Given the description of an element on the screen output the (x, y) to click on. 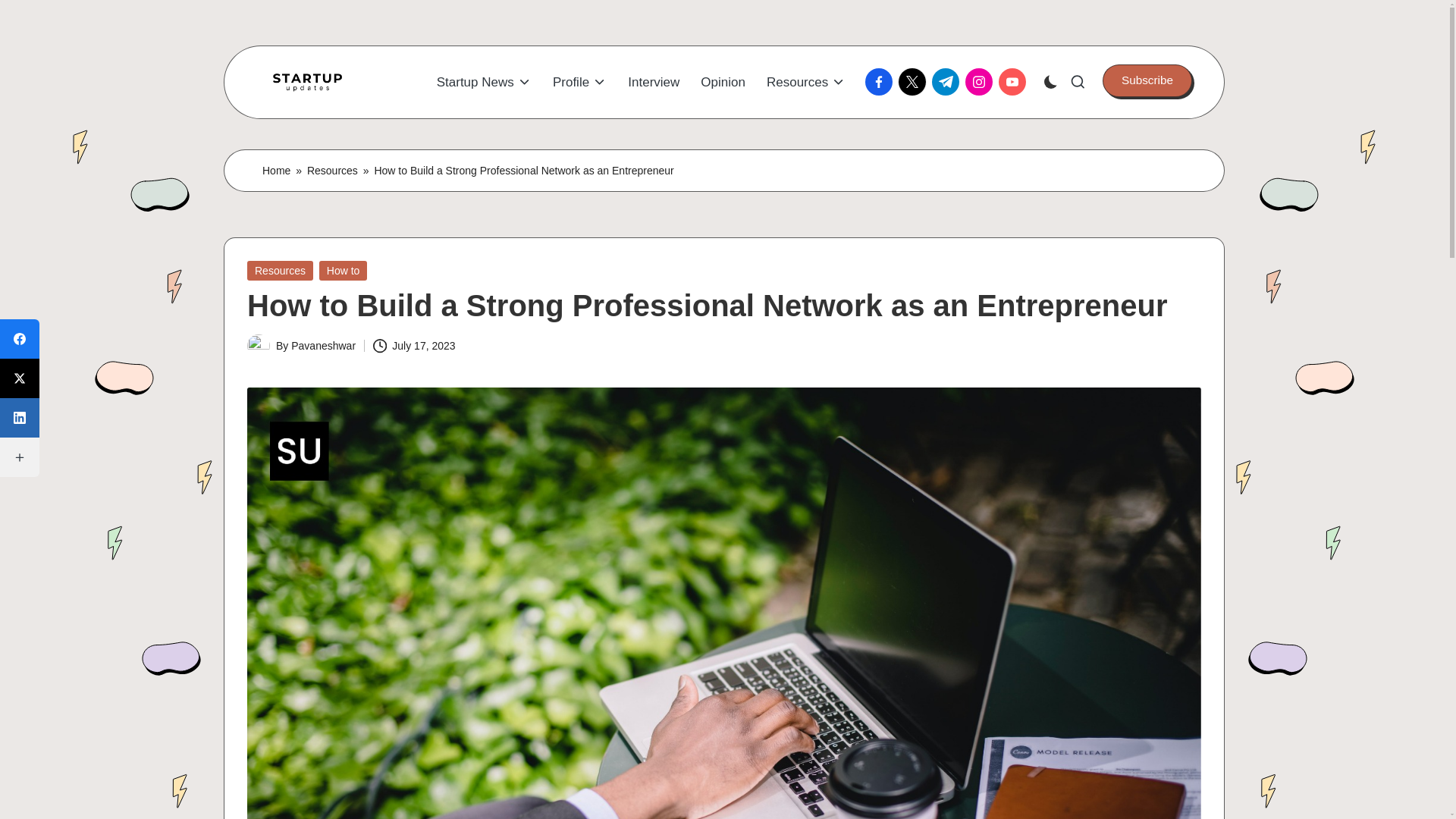
Opinion (722, 82)
instagram.com (981, 81)
View all posts by Pavaneshwar (323, 345)
Home (275, 170)
Resources (806, 82)
Profile (580, 82)
facebook.com (881, 81)
Startup News (483, 82)
t.me (948, 81)
Interview (653, 82)
